Given the description of an element on the screen output the (x, y) to click on. 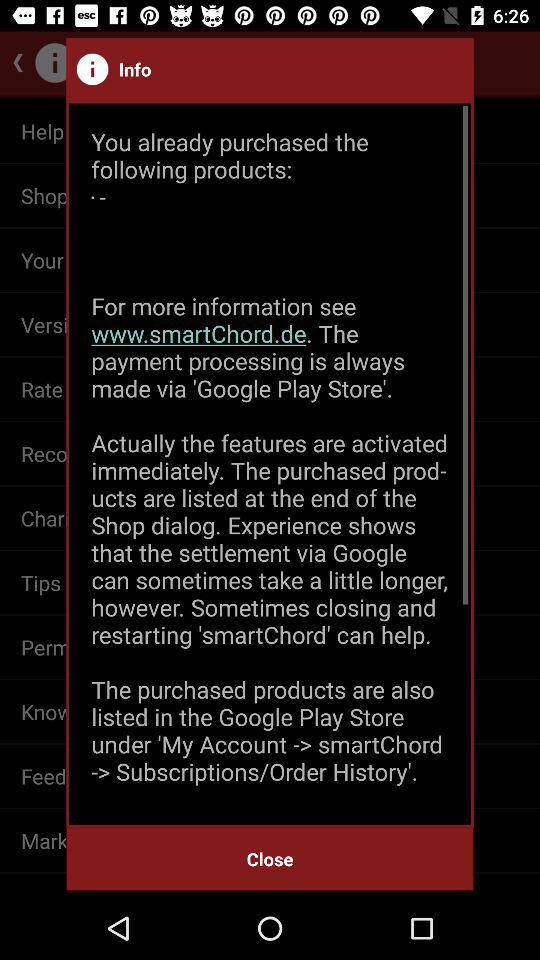
launch you already purchased at the center (269, 464)
